Given the description of an element on the screen output the (x, y) to click on. 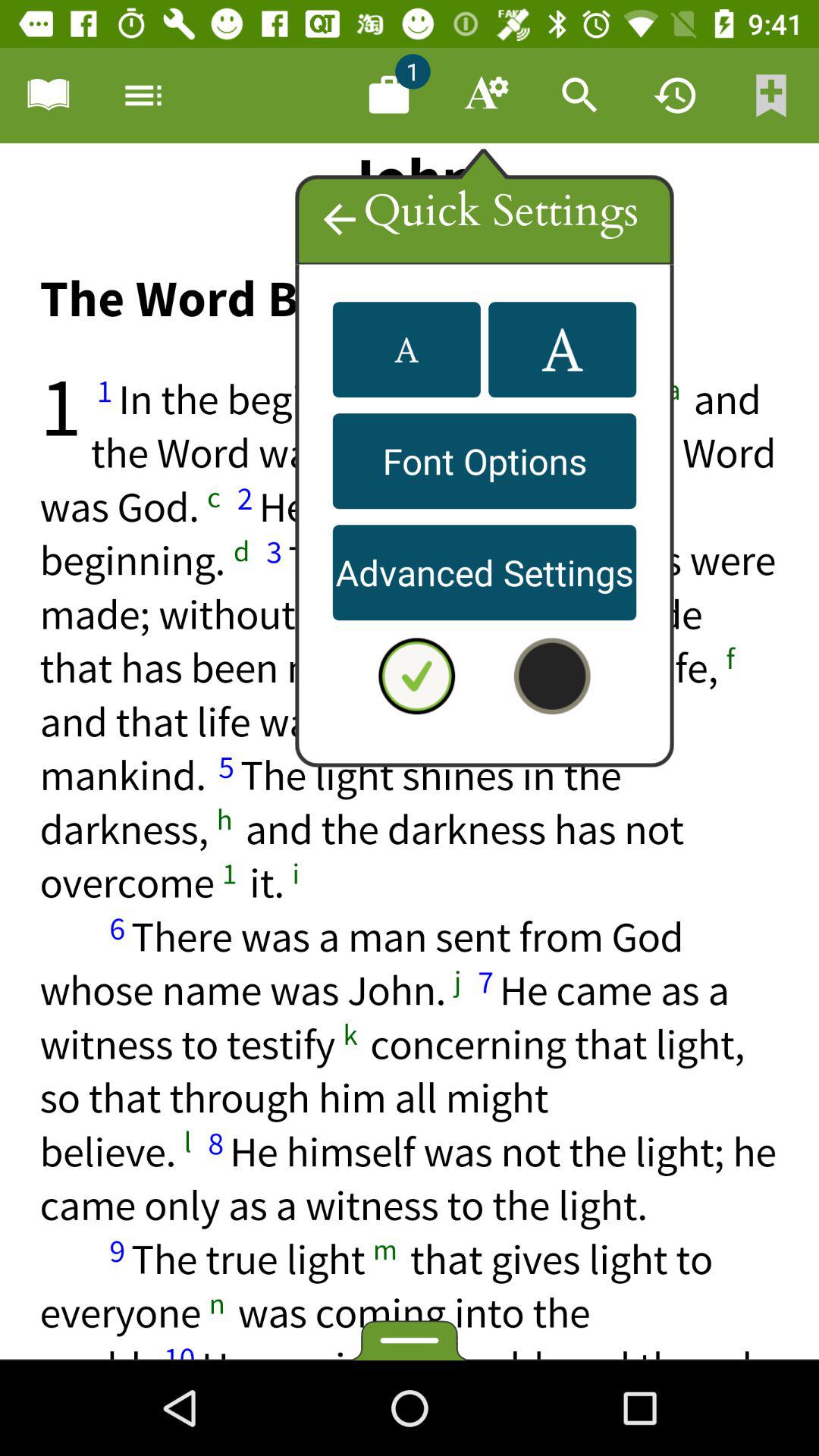
choose this (409, 751)
